Given the description of an element on the screen output the (x, y) to click on. 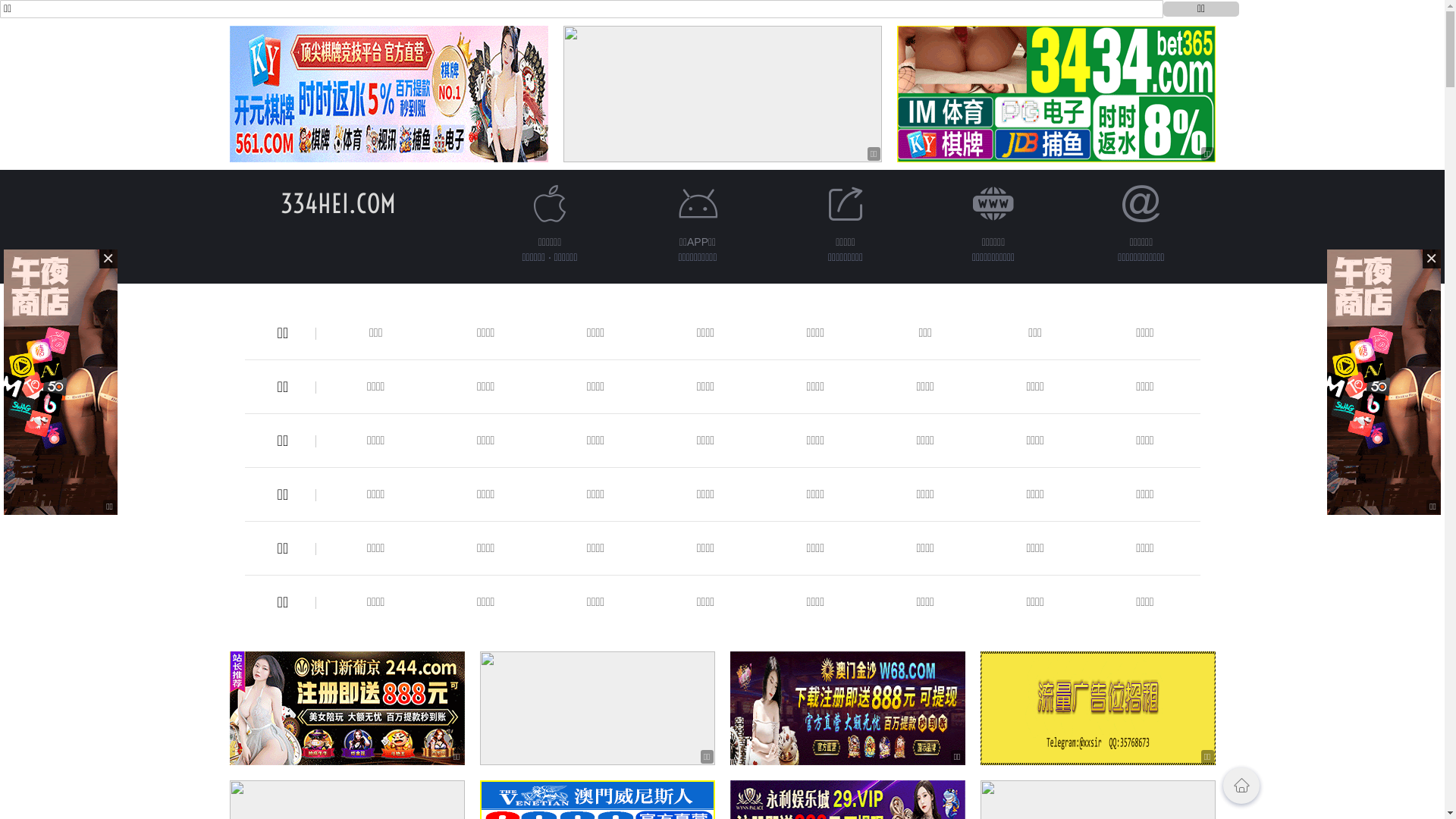
334HEI.COM Element type: text (337, 203)
